Given the description of an element on the screen output the (x, y) to click on. 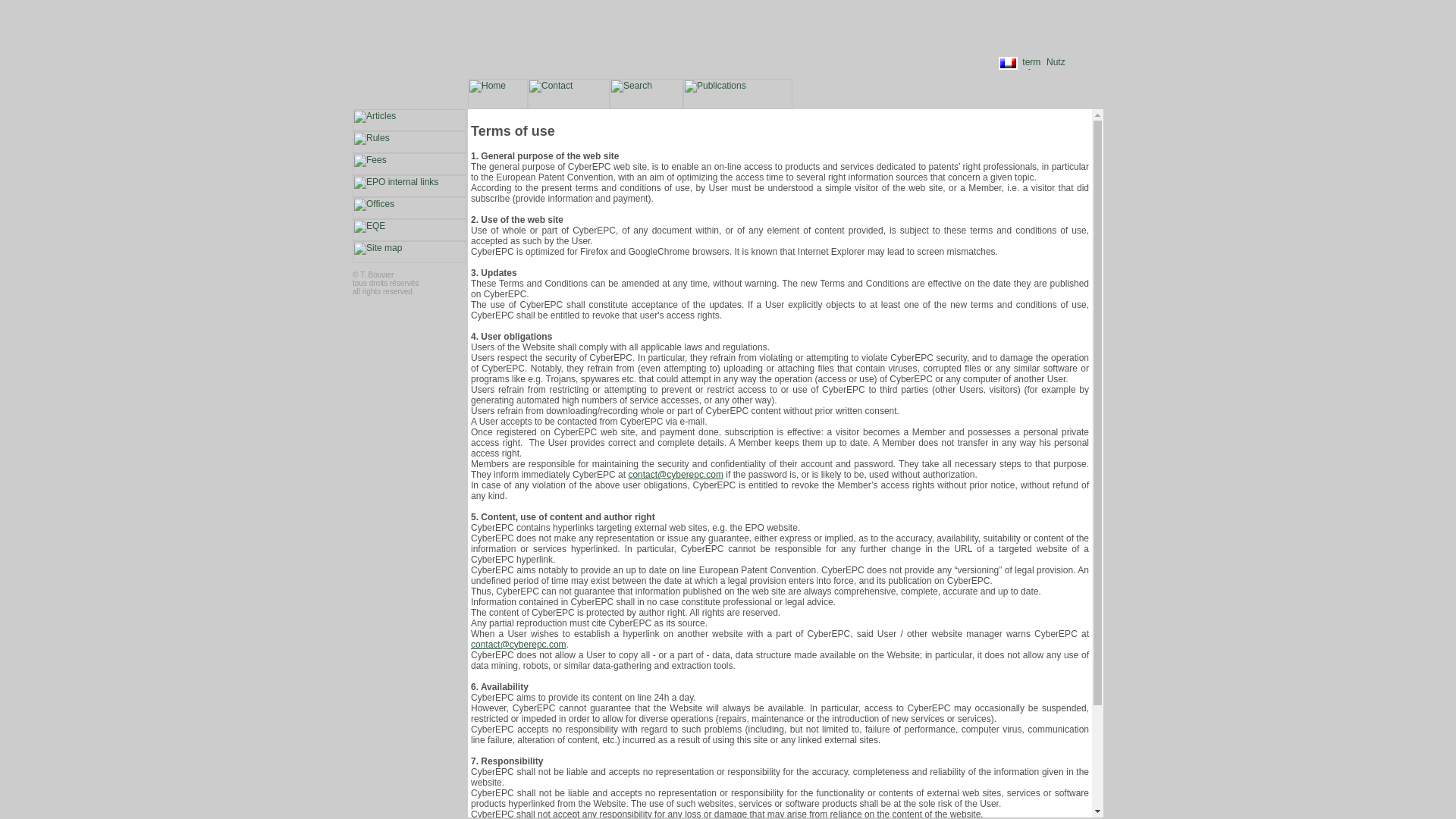
Opens window for sending email (675, 474)
Opens window for sending email (518, 644)
